Given the description of an element on the screen output the (x, y) to click on. 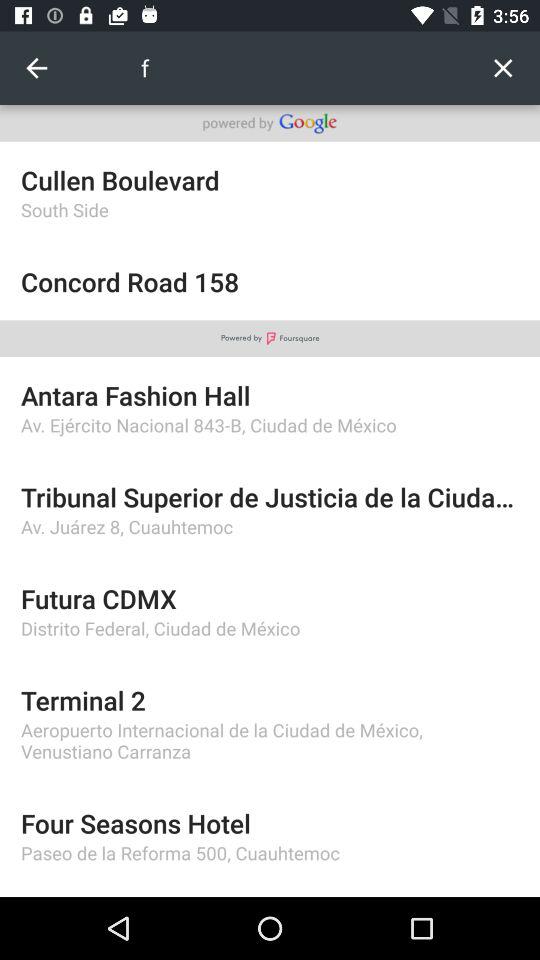
press item at the top left corner (36, 68)
